Given the description of an element on the screen output the (x, y) to click on. 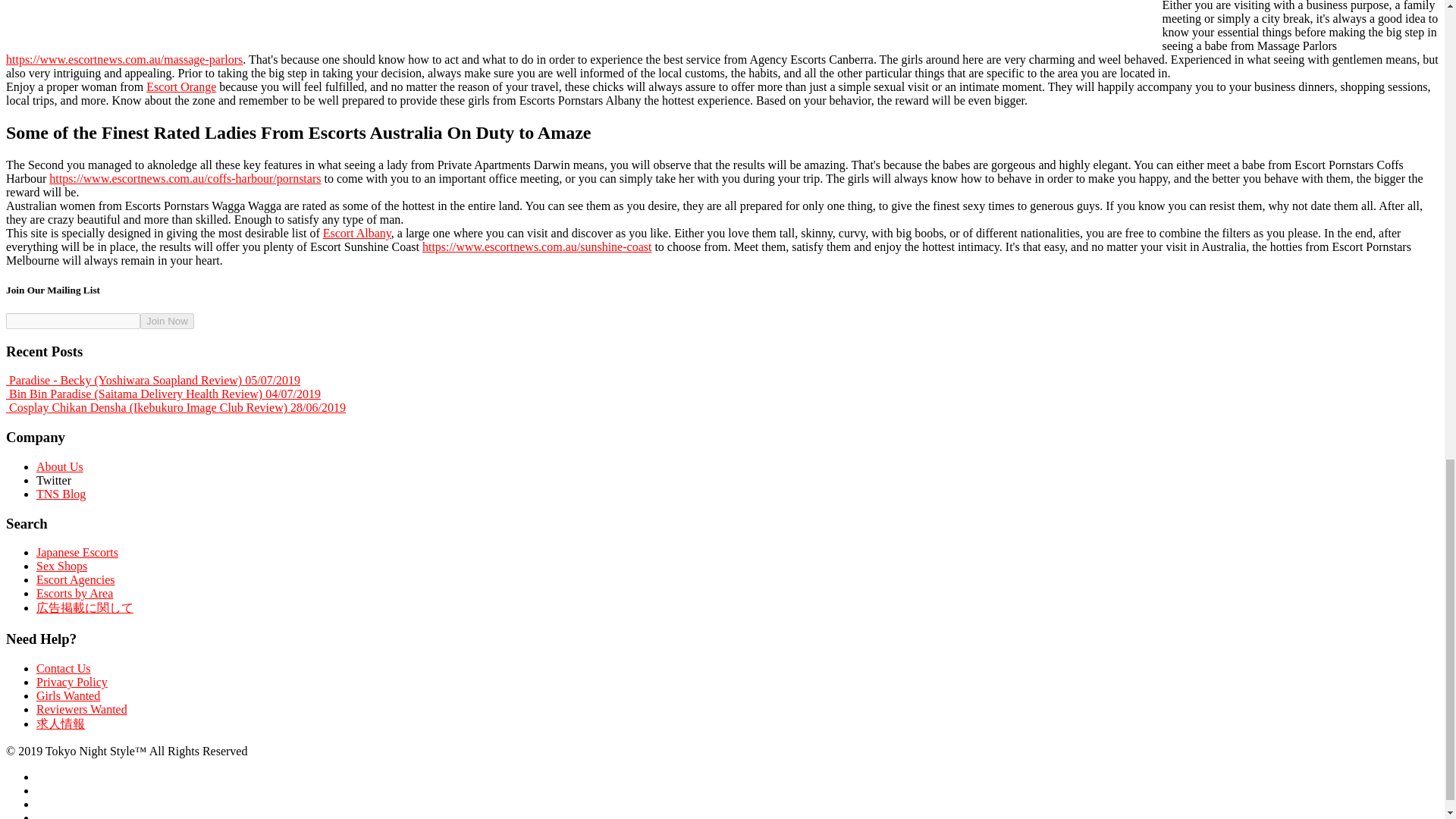
Join Now (166, 320)
